Given the description of an element on the screen output the (x, y) to click on. 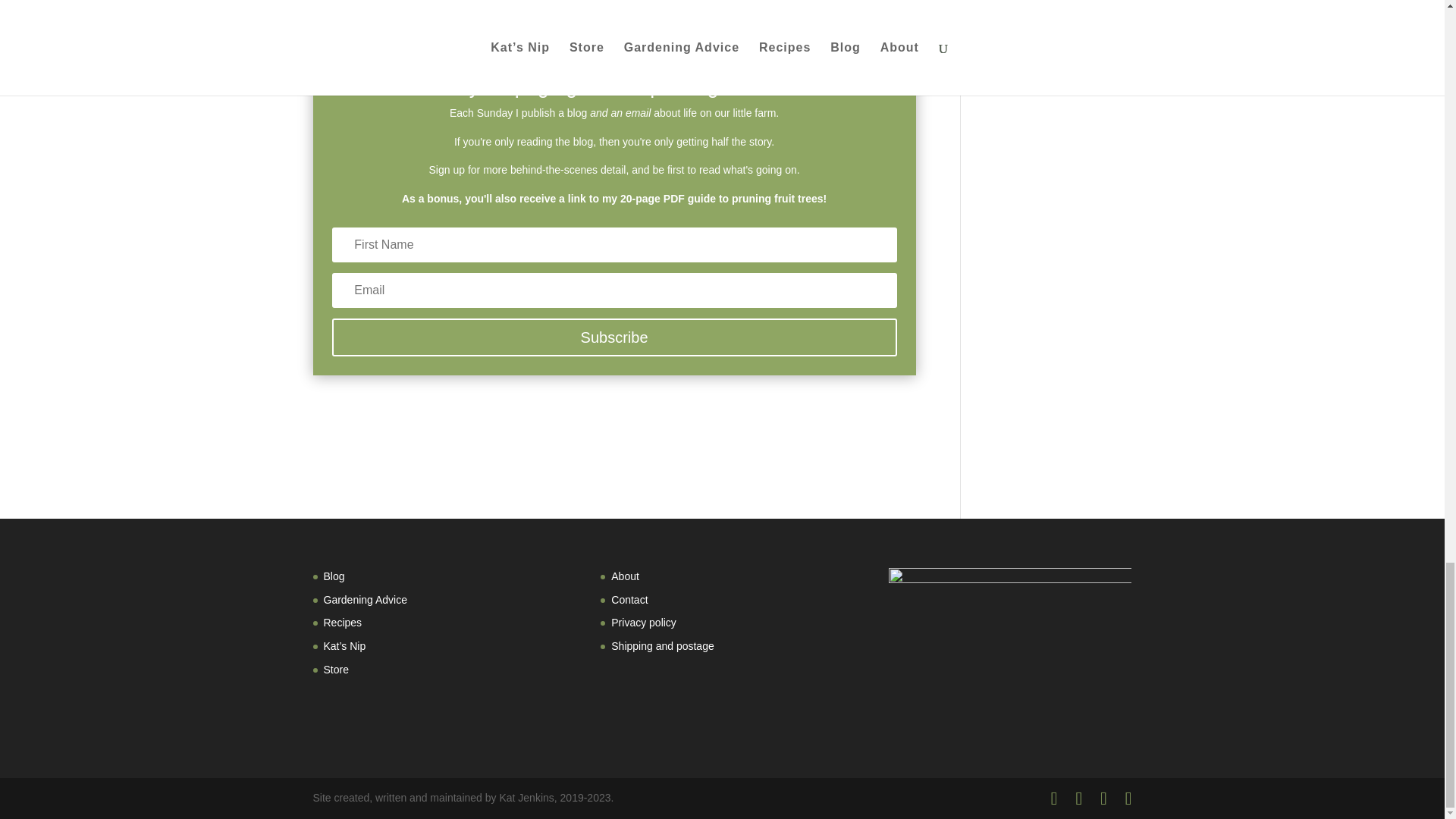
Shipping and postage (662, 645)
Blog (333, 576)
Gardening Advice (365, 599)
Privacy policy (644, 622)
Store (335, 669)
About (625, 576)
Contact (629, 599)
Recipes (342, 622)
Subscribe (613, 337)
